Given the description of an element on the screen output the (x, y) to click on. 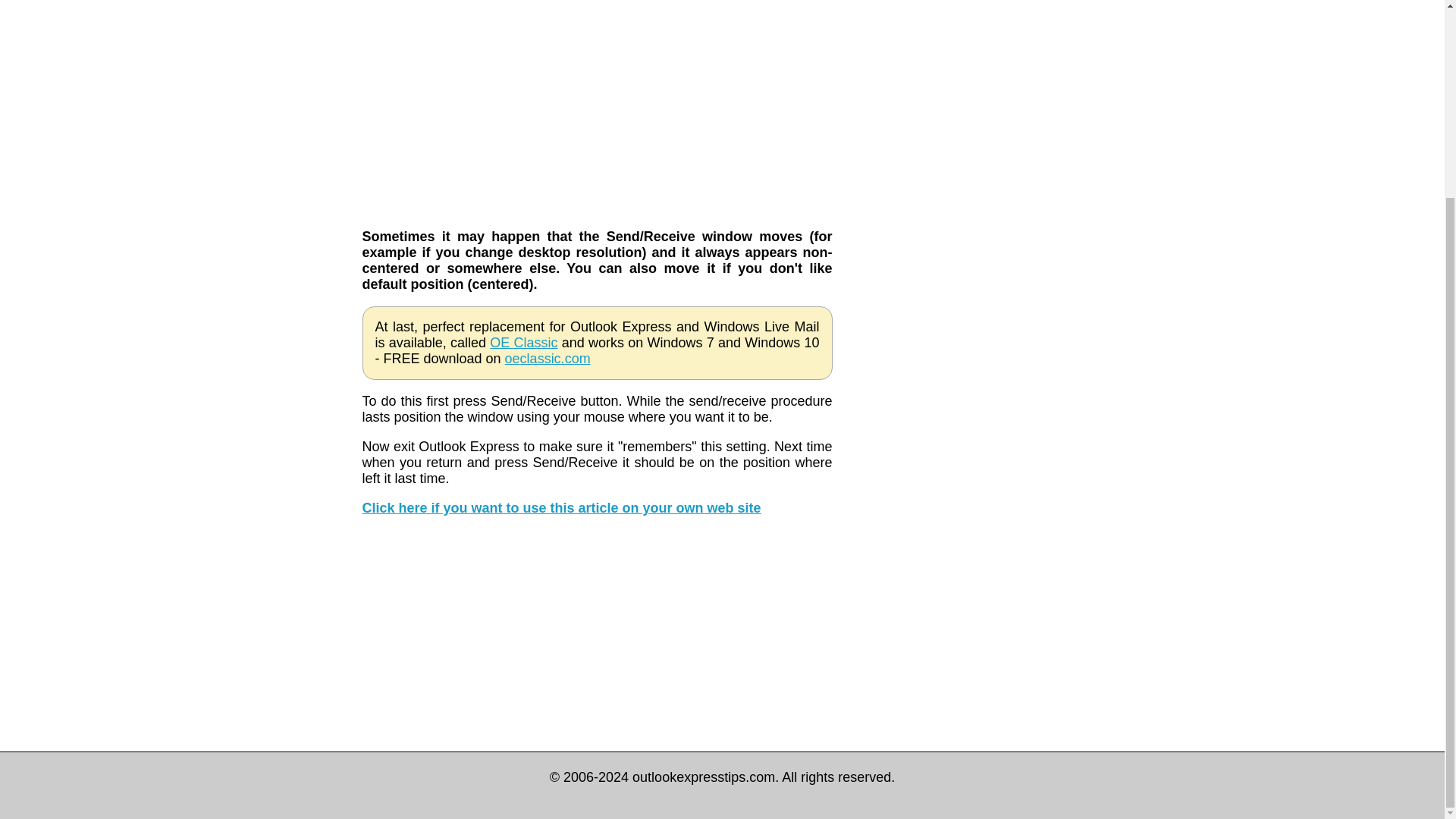
Advertisement (597, 99)
Advertisement (597, 635)
OE Classic (523, 342)
Advertisement (969, 180)
oeclassic.com (548, 358)
